Given the description of an element on the screen output the (x, y) to click on. 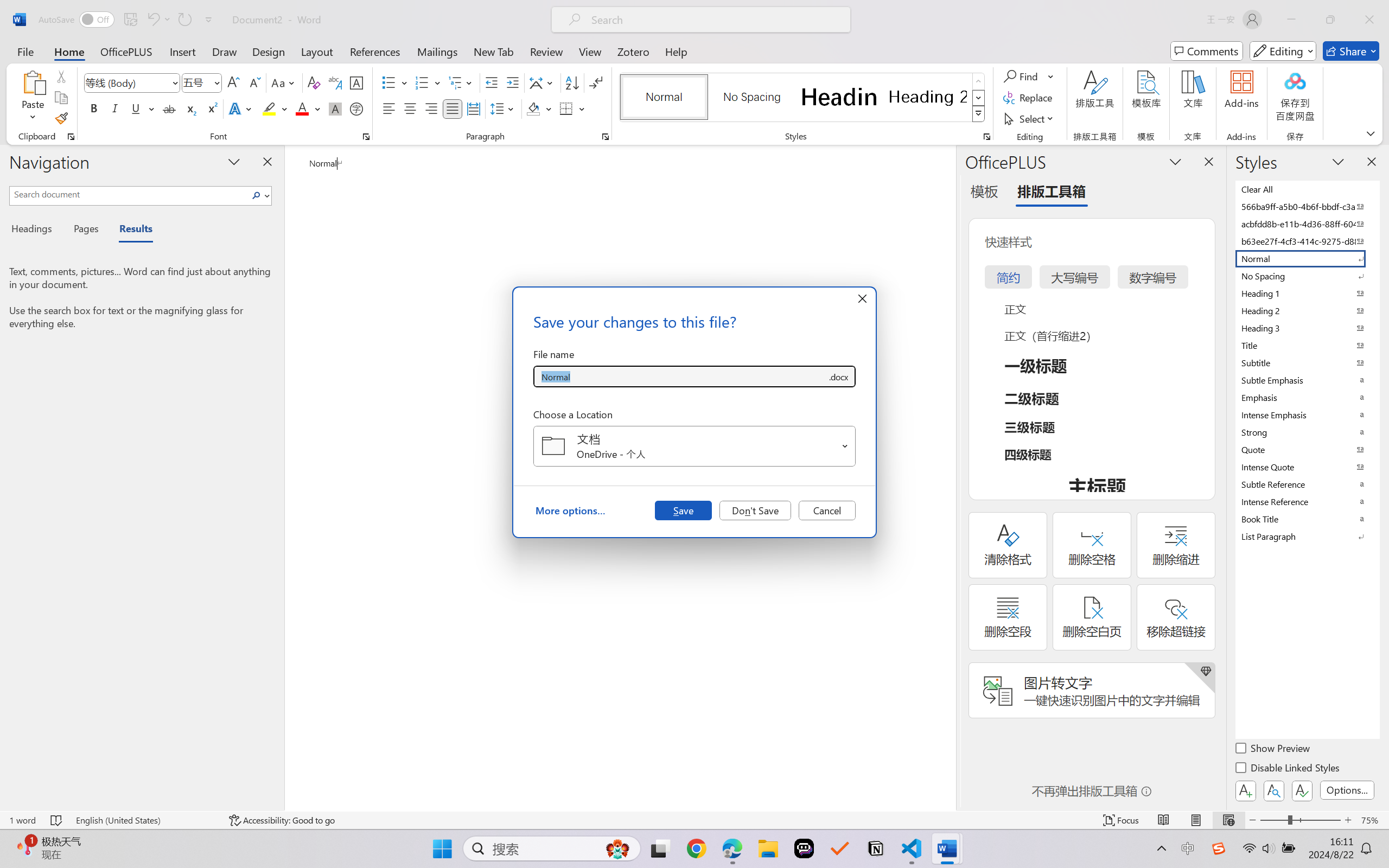
Character Shading (334, 108)
Phonetic Guide... (334, 82)
Distributed (473, 108)
Undo Apply Quick Style (158, 19)
Repeat Style (184, 19)
Zoom Out (1273, 819)
Clear Formatting (313, 82)
